Given the description of an element on the screen output the (x, y) to click on. 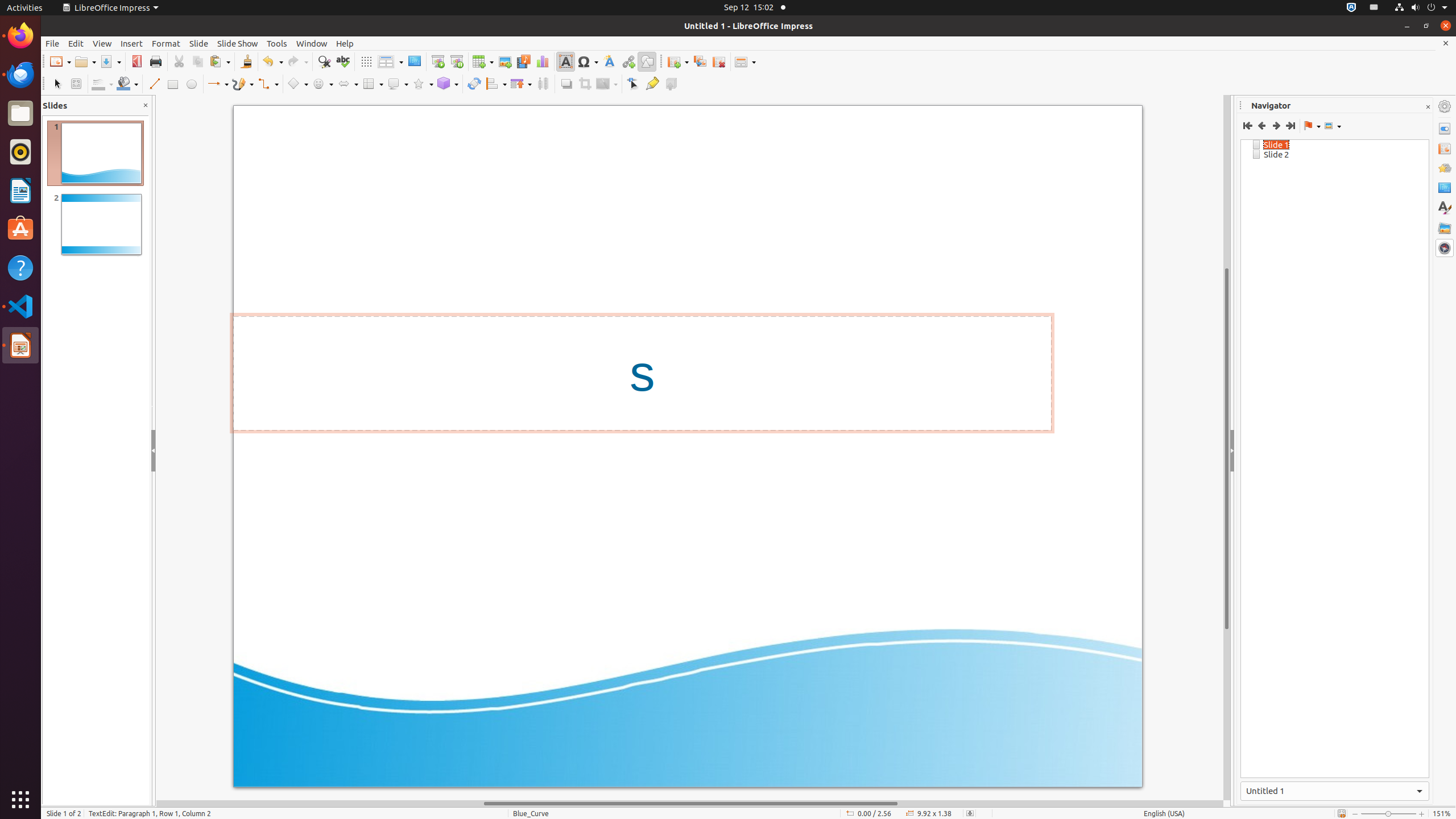
Styles Element type: radio-button (1444, 208)
Paste Element type: push-button (219, 61)
Toggle Extrusion Element type: push-button (670, 83)
Insert Element type: menu (131, 43)
Hyperlink Element type: toggle-button (627, 61)
